Given the description of an element on the screen output the (x, y) to click on. 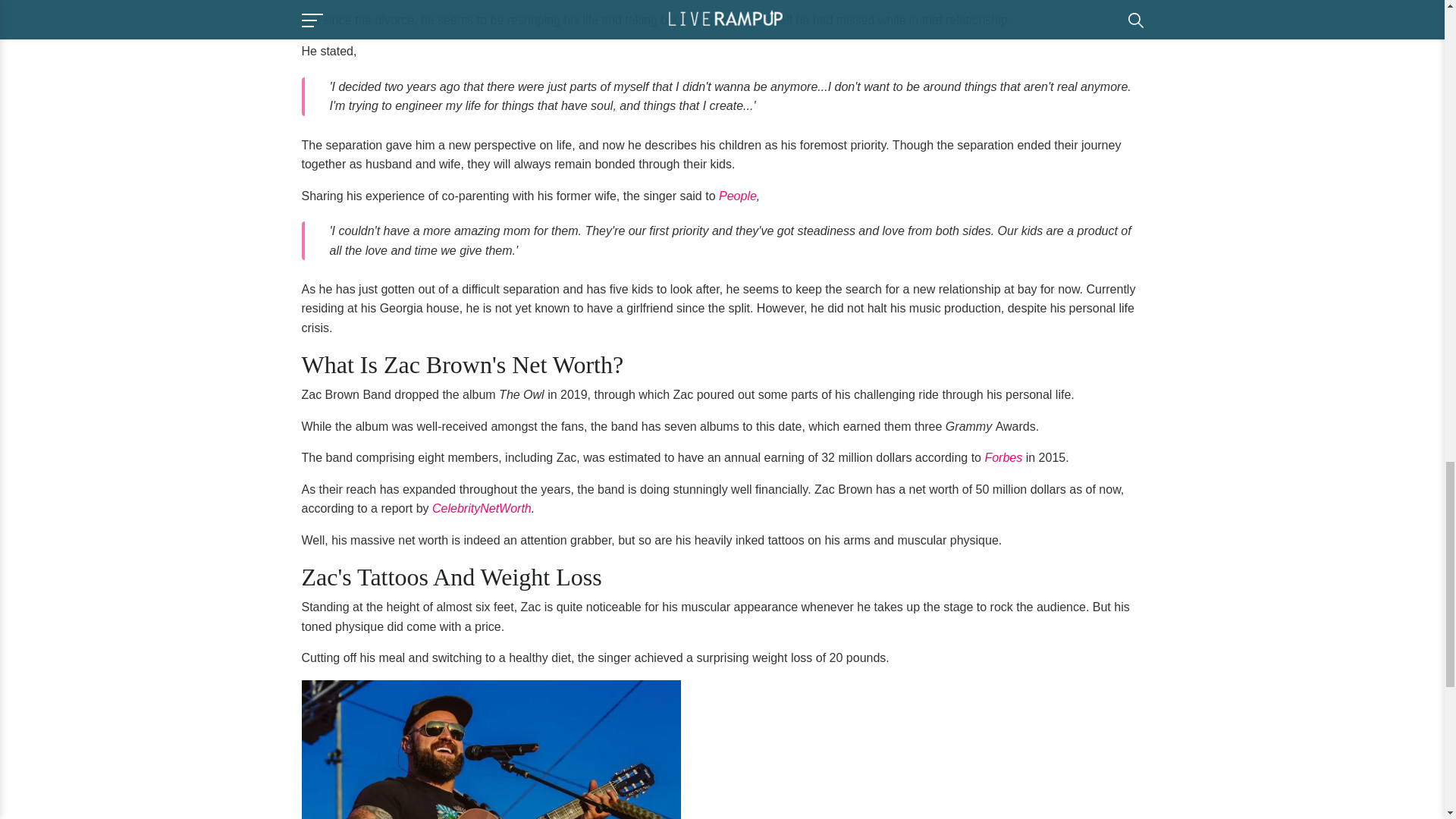
People (738, 195)
Forbes (1004, 457)
